Given the description of an element on the screen output the (x, y) to click on. 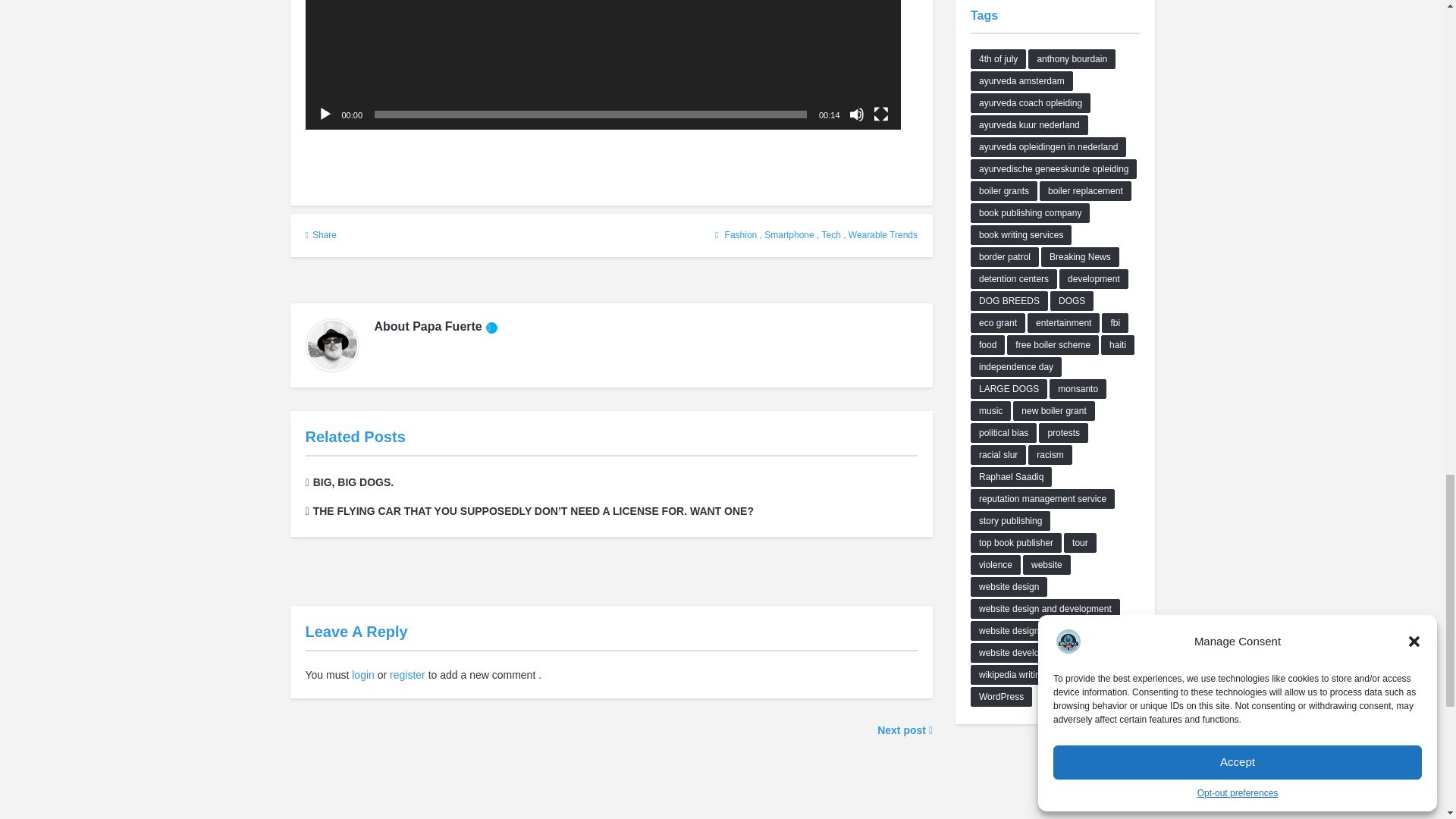
Mute (856, 114)
BIG, BIG DOGS. (348, 481)
Play (324, 114)
Fullscreen (880, 114)
